Given the description of an element on the screen output the (x, y) to click on. 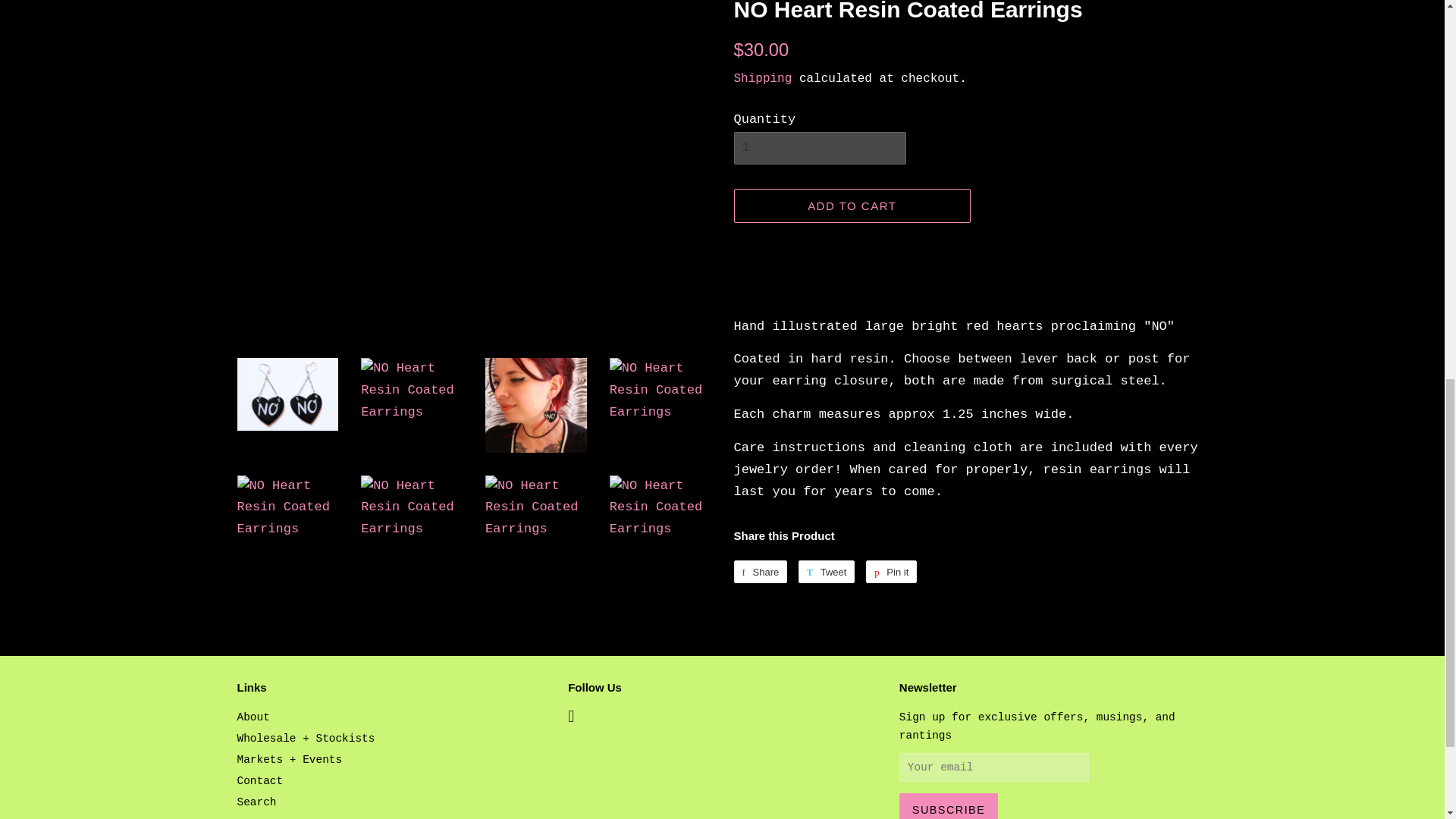
Share on Facebook (760, 571)
1 (819, 147)
Tweet on Twitter (825, 571)
Subscribe (948, 806)
Pin on Pinterest (891, 571)
